Given the description of an element on the screen output the (x, y) to click on. 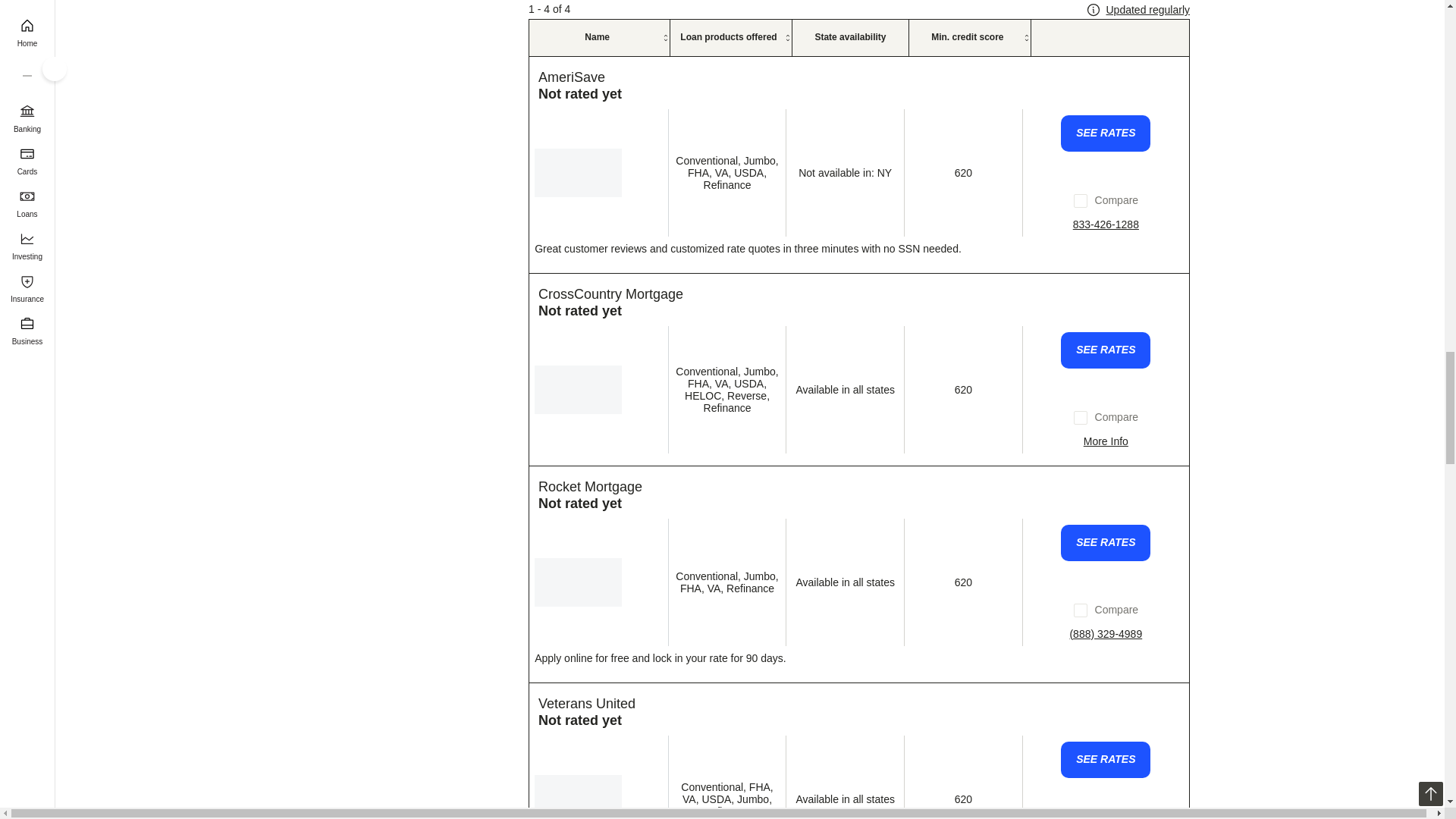
Read our review of this product (571, 69)
Apply now with Veterans United (1105, 751)
Read our review of this product (610, 286)
Apply now with AmeriSave (1105, 125)
Read our review of this product (590, 478)
Apply now with CrossCountry Mortgage (1105, 342)
Read our review of this product (586, 695)
Call for more info about AmeriSave (1105, 216)
Read our full review of CrossCountry Mortgage (1105, 433)
Call for more info about Rocket Mortgage (1105, 625)
Apply now with Rocket Mortgage (1105, 534)
